Given the description of an element on the screen output the (x, y) to click on. 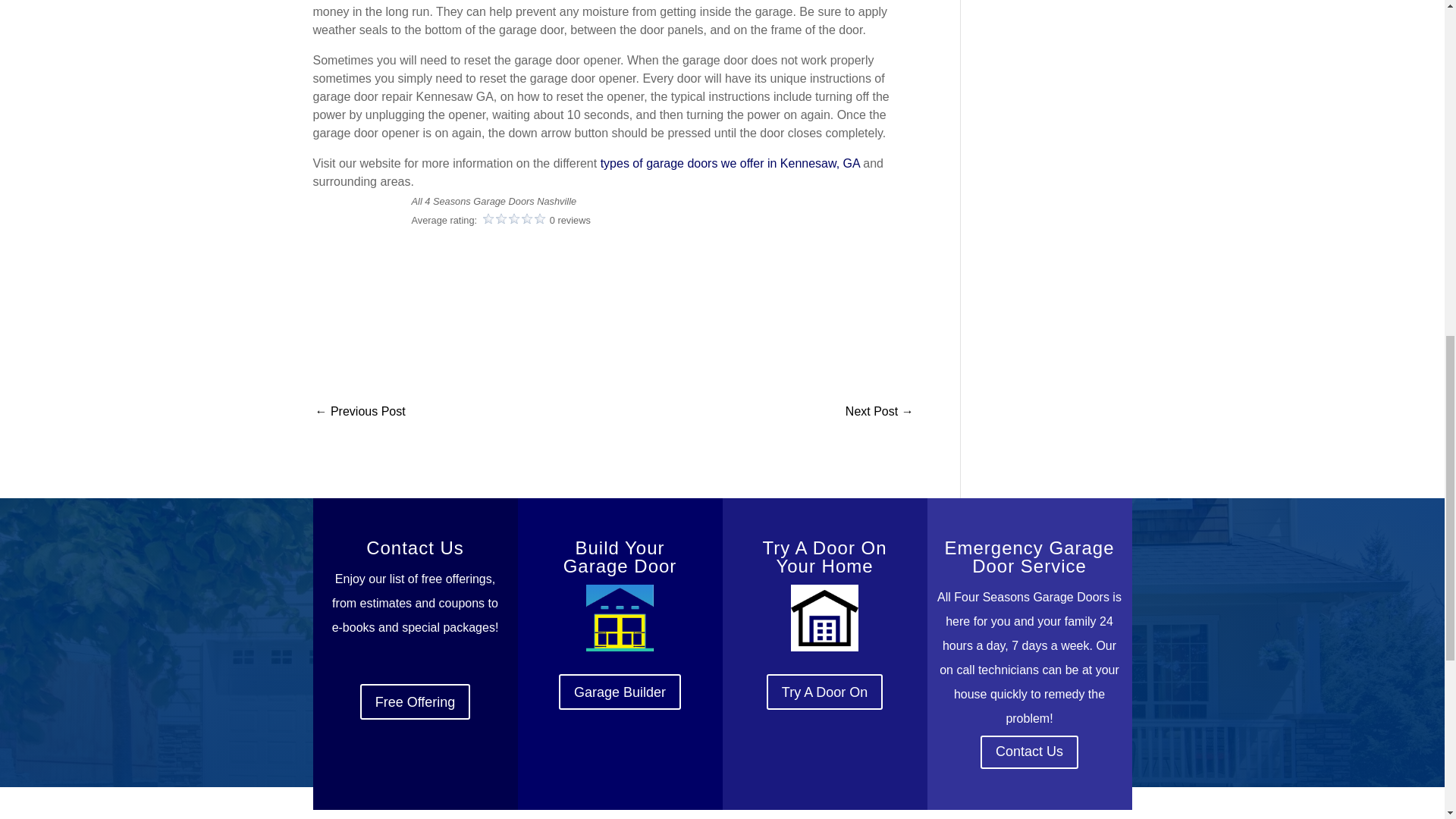
Try A Door On (824, 692)
garage door gif (823, 617)
Free Offering (414, 701)
Garage Build4 (619, 617)
Contact Us (1028, 752)
Garage Builder (620, 692)
types of garage doors we offer in Kennesaw, GA (729, 163)
